Given the description of an element on the screen output the (x, y) to click on. 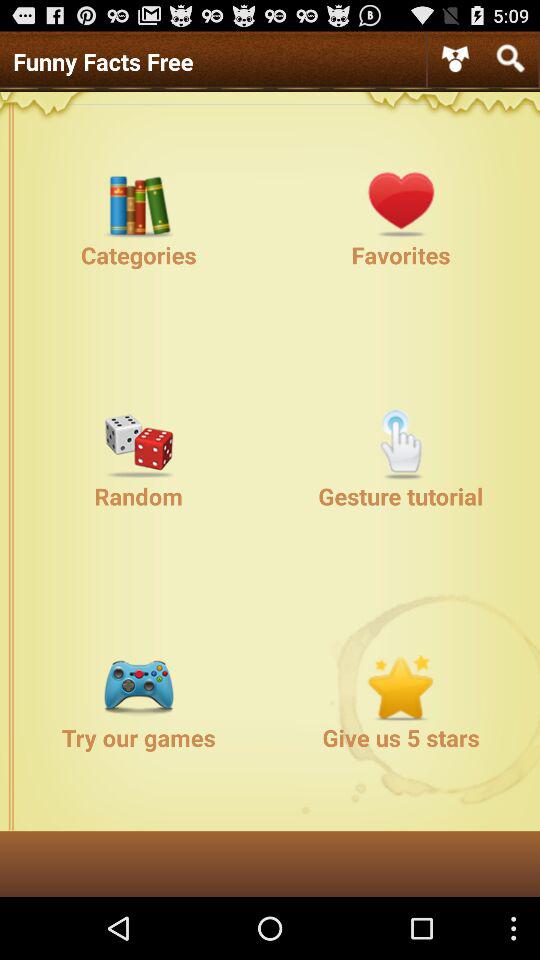
share (455, 58)
